Given the description of an element on the screen output the (x, y) to click on. 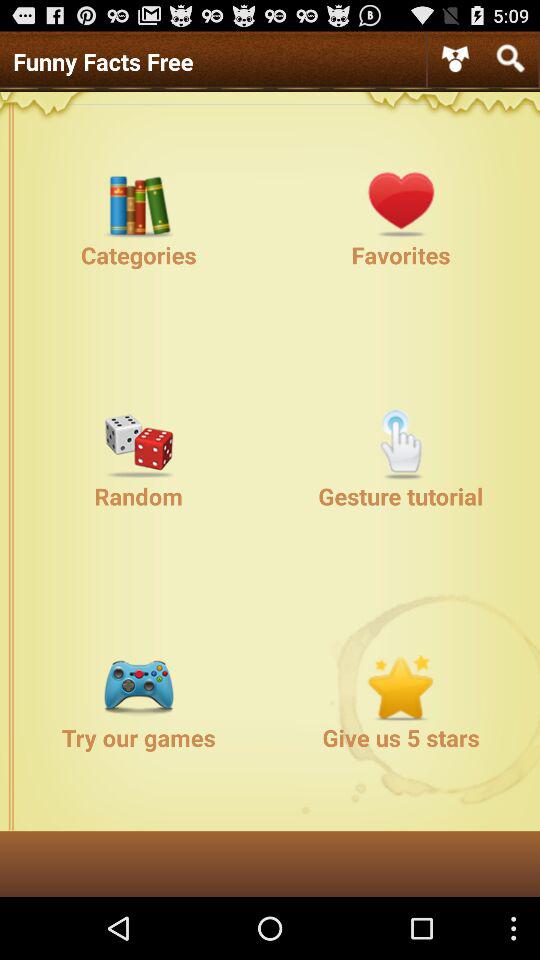
share (455, 58)
